Given the description of an element on the screen output the (x, y) to click on. 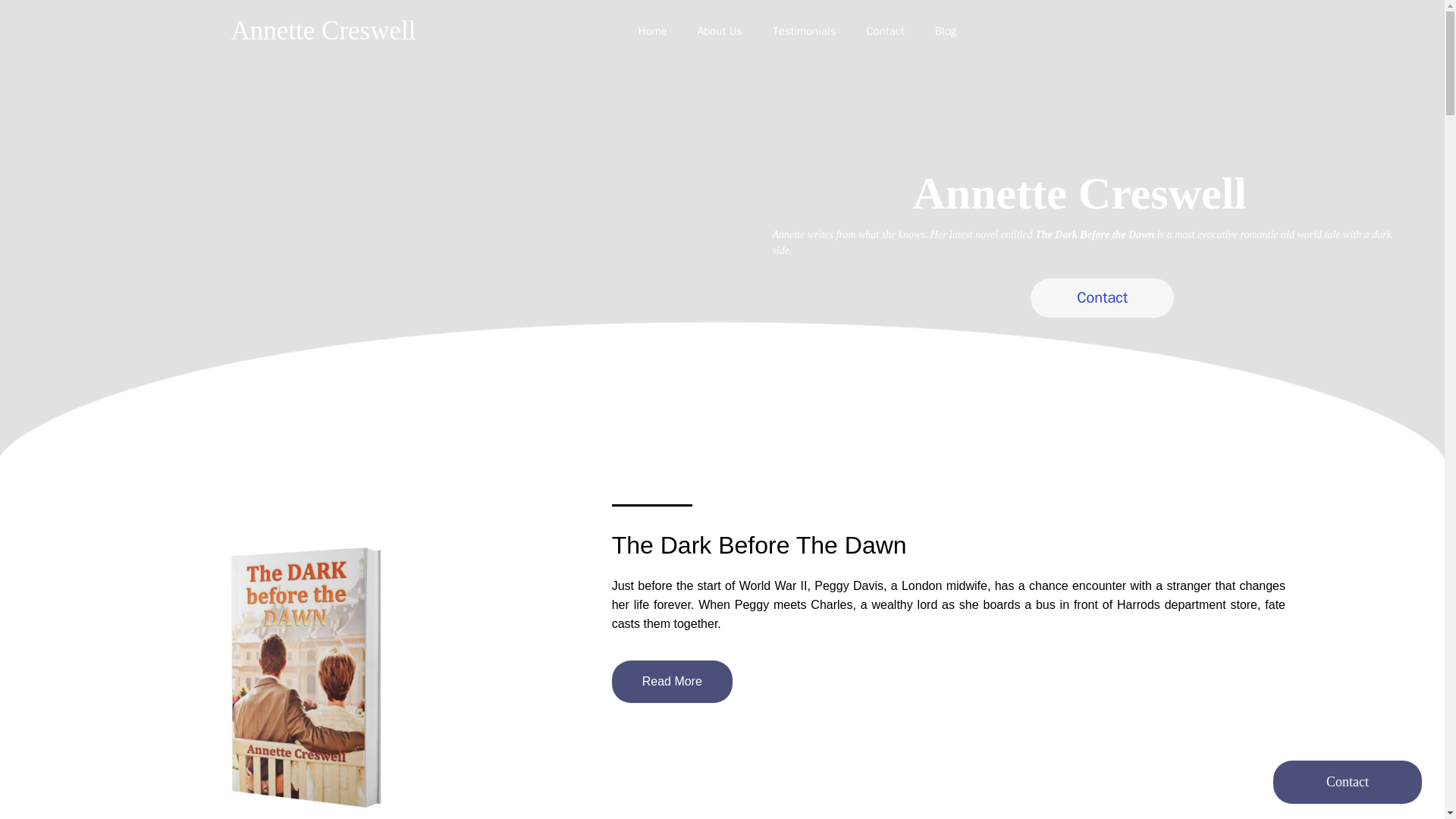
Home (667, 30)
Go to top (1347, 781)
Read More (671, 681)
Annette Creswell (322, 31)
Contact (1347, 781)
Blog (960, 30)
Testimonials (819, 30)
Contact (1101, 297)
Contact (900, 30)
About Us (735, 30)
